Given the description of an element on the screen output the (x, y) to click on. 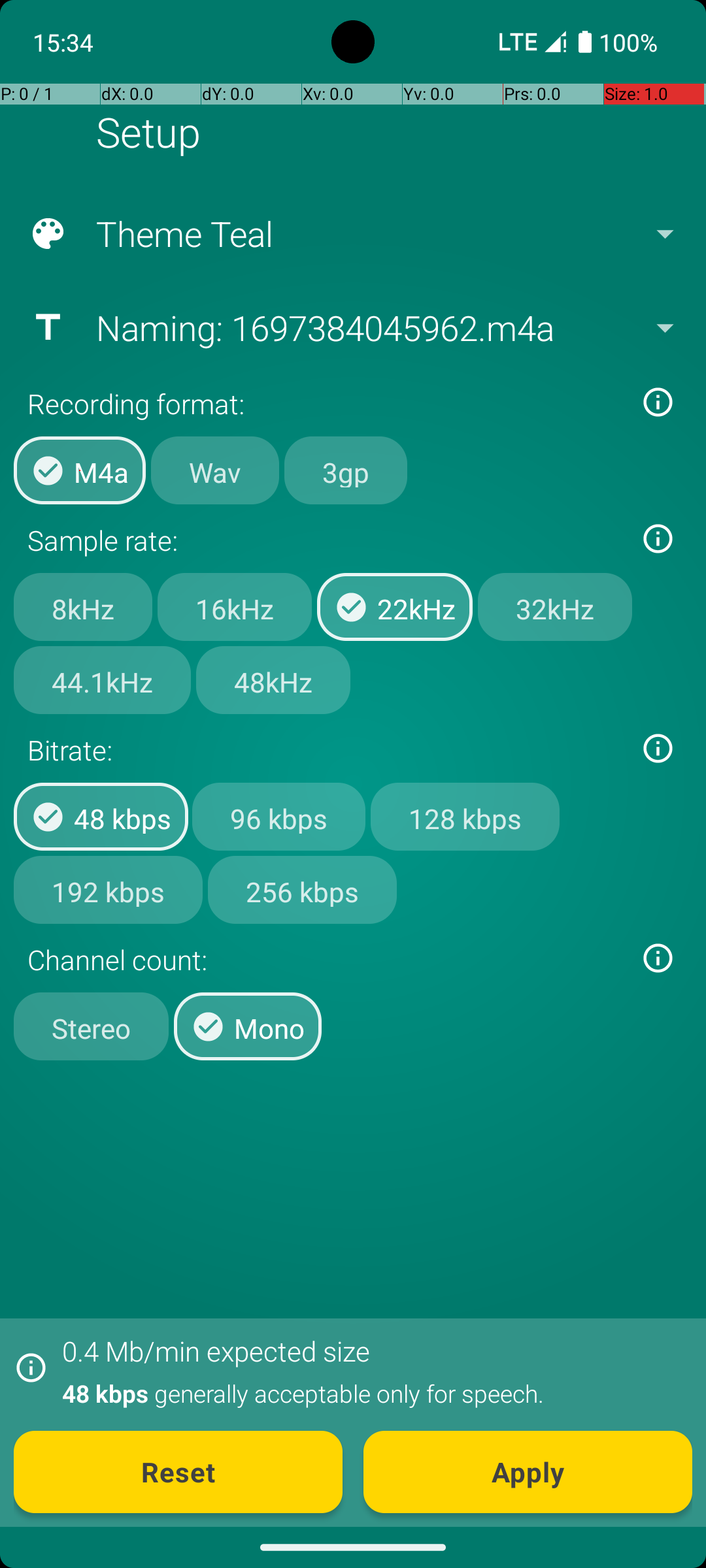
0.4 Mb/min expected size Element type: android.widget.TextView (215, 1350)
48 kbps generally acceptable only for speech. Element type: android.widget.TextView (370, 1392)
Naming: 1697384045962.m4a Element type: android.widget.TextView (352, 327)
